Given the description of an element on the screen output the (x, y) to click on. 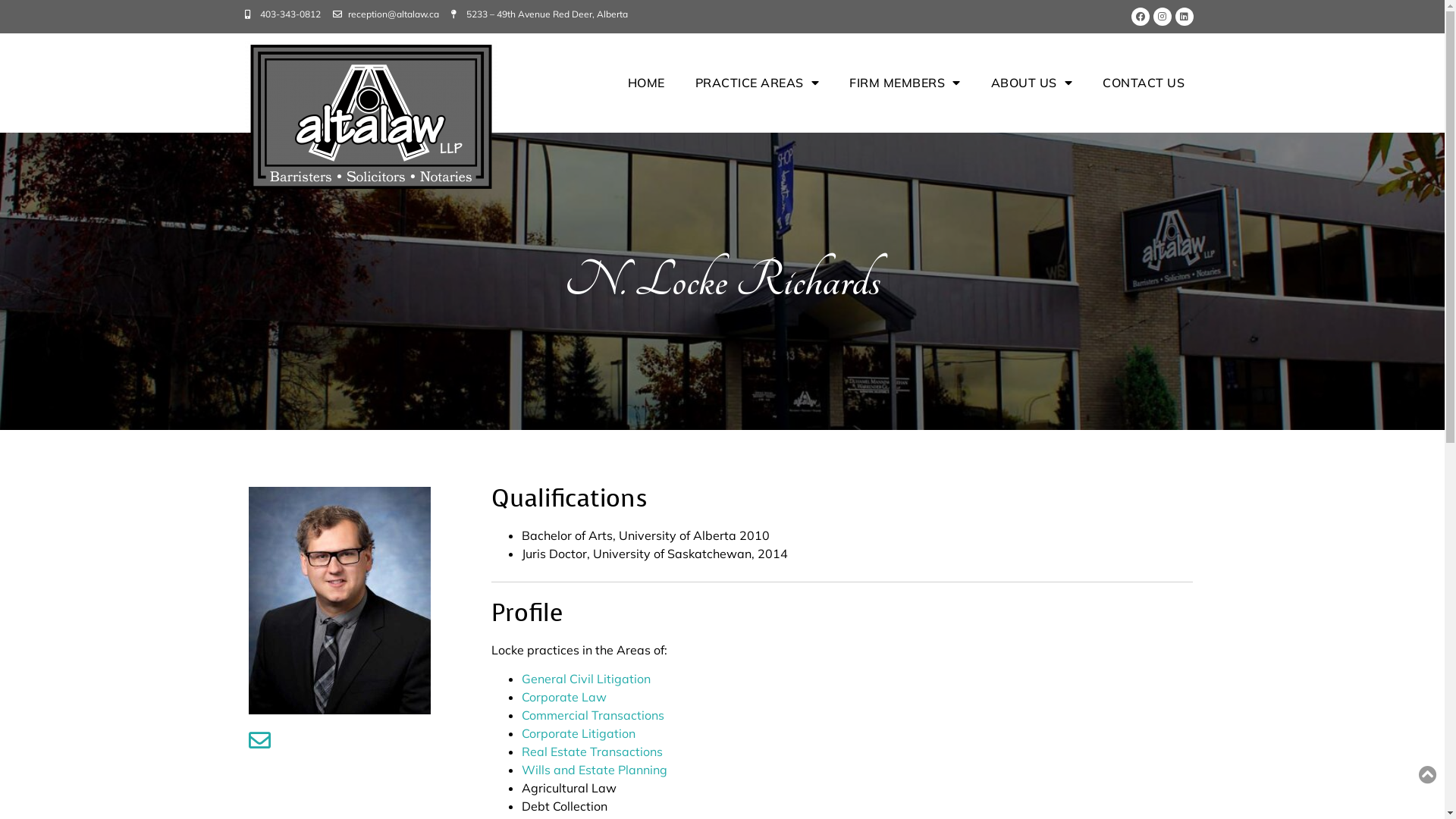
FIRM MEMBERS Element type: text (904, 82)
General Civil Litigation Element type: text (585, 678)
ABOUT US Element type: text (1031, 82)
Corporate Litigation Element type: text (578, 732)
HOME Element type: text (646, 82)
Wills and Estate Planning Element type: text (594, 769)
Real Estate Transactions Element type: text (591, 751)
Commercial Transactions Element type: text (592, 714)
403-343-0812 Element type: text (282, 14)
altalaw Element type: hover (370, 116)
Corporate Law Element type: text (563, 696)
reception@altalaw.ca Element type: text (385, 14)
PRACTICE AREAS Element type: text (757, 82)
CONTACT US Element type: text (1143, 82)
